Given the description of an element on the screen output the (x, y) to click on. 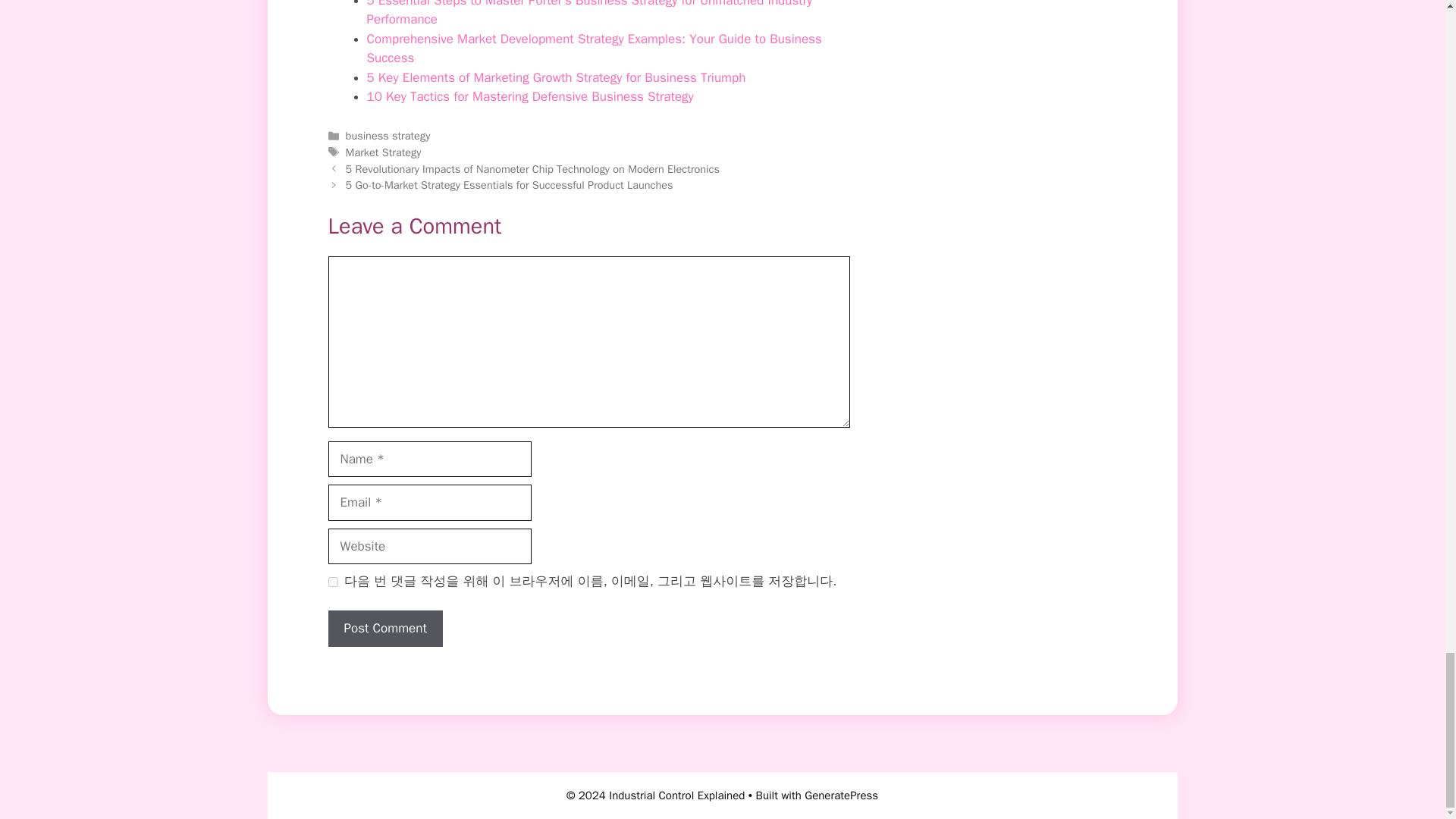
10 Key Tactics for Mastering Defensive Business Strategy (530, 96)
yes (332, 582)
Post Comment (384, 628)
Market Strategy (384, 151)
Post Comment (384, 628)
business strategy (388, 135)
